Given the description of an element on the screen output the (x, y) to click on. 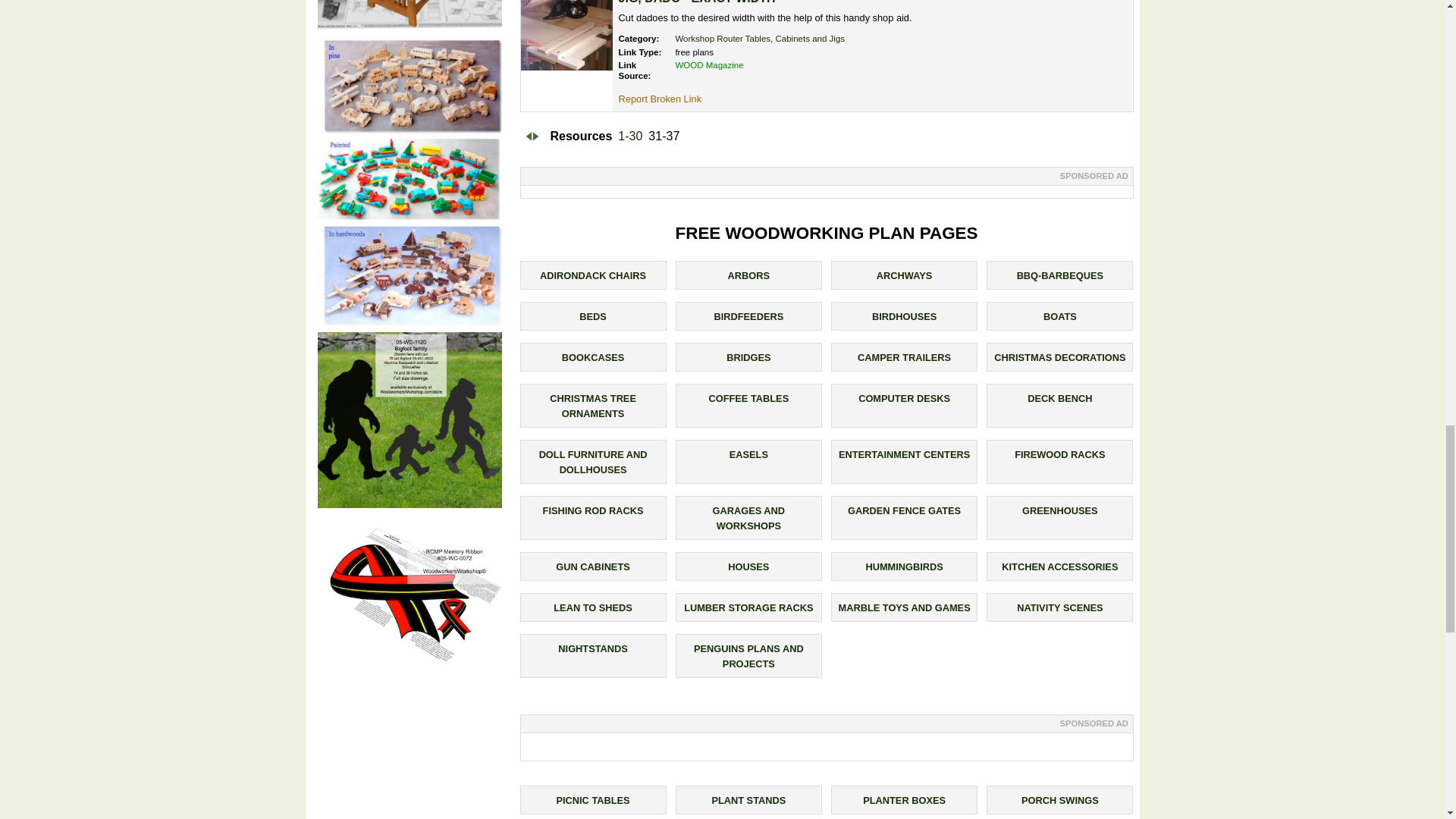
ARBORS (749, 275)
BBQ-BARBEQUES (1059, 275)
BEDS (593, 316)
ARCHWAYS (903, 275)
Workshop Router Tables, Cabinets and Jigs (759, 38)
Report Broken Link (659, 98)
1-30 (629, 136)
BIRDFEEDERS (748, 316)
ADIRONDACK CHAIRS (593, 275)
JIG, DADO - EXACT WIDTH (697, 2)
